Given the description of an element on the screen output the (x, y) to click on. 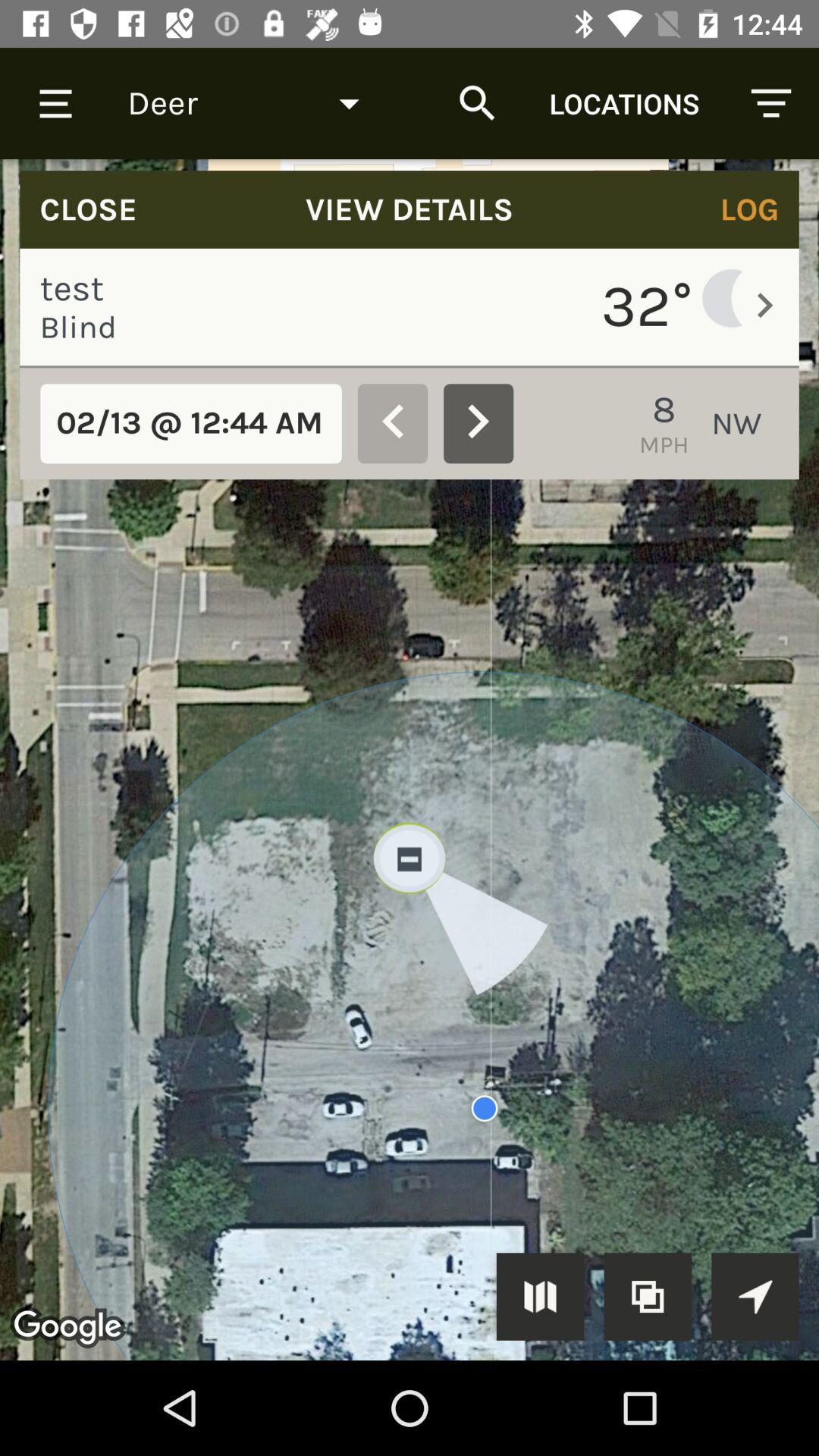
go to explore the map (755, 1296)
